Given the description of an element on the screen output the (x, y) to click on. 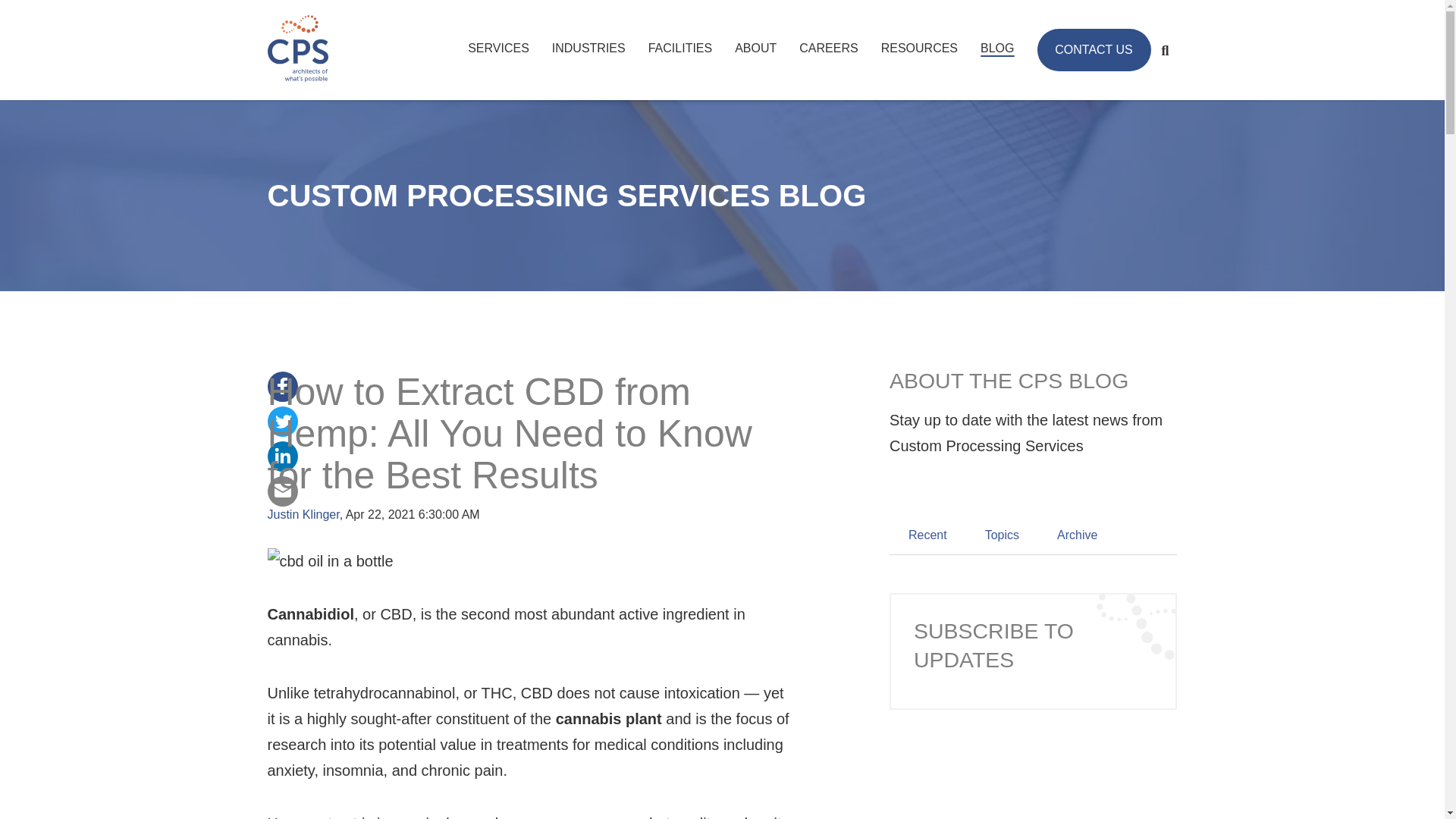
FACILITIES (679, 47)
Twitter (281, 420)
Facebook (281, 385)
SERVICES (498, 47)
Email (281, 490)
LinkedIn (281, 455)
INDUSTRIES (588, 47)
